Given the description of an element on the screen output the (x, y) to click on. 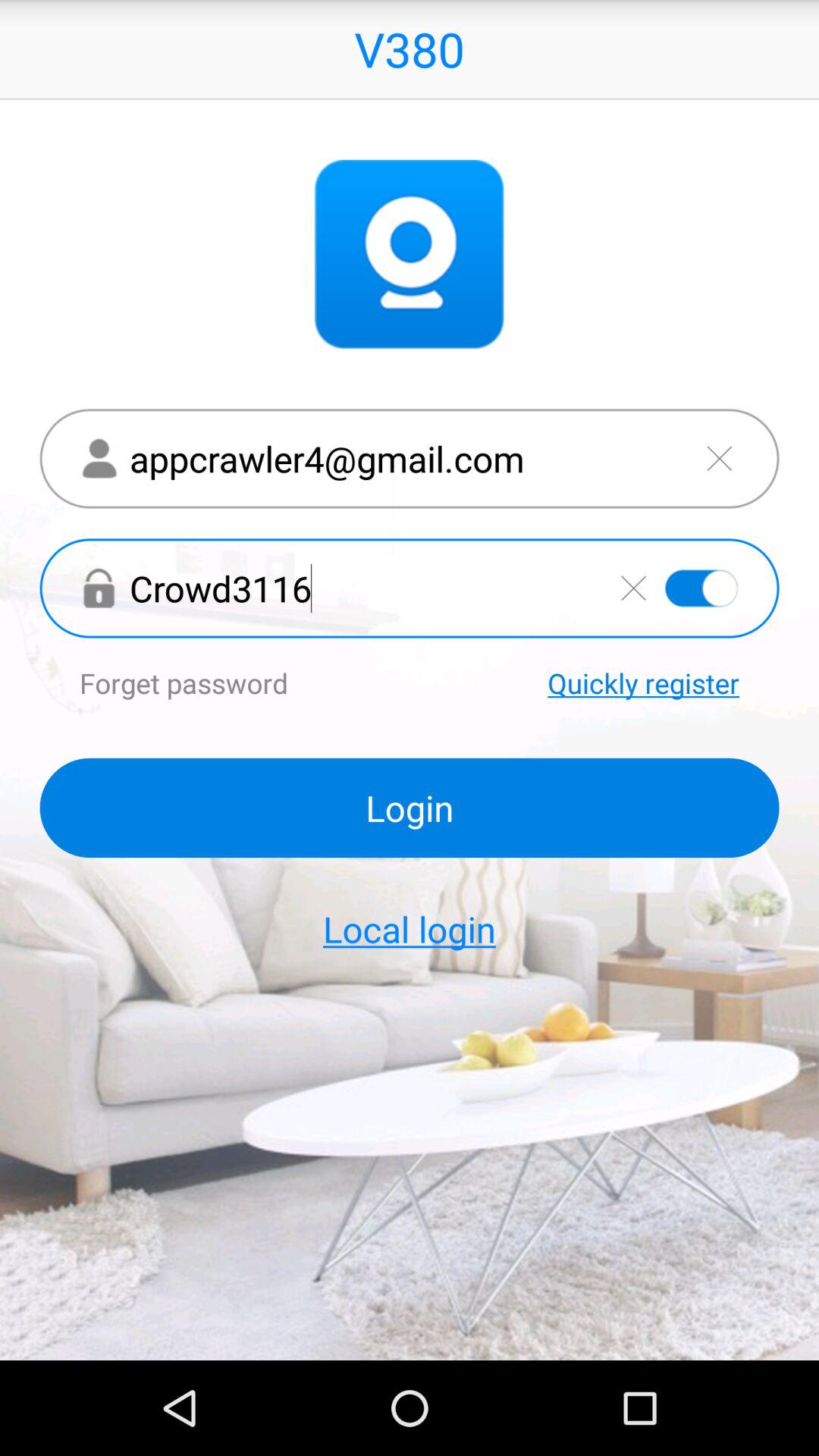
delete (633, 587)
